Given the description of an element on the screen output the (x, y) to click on. 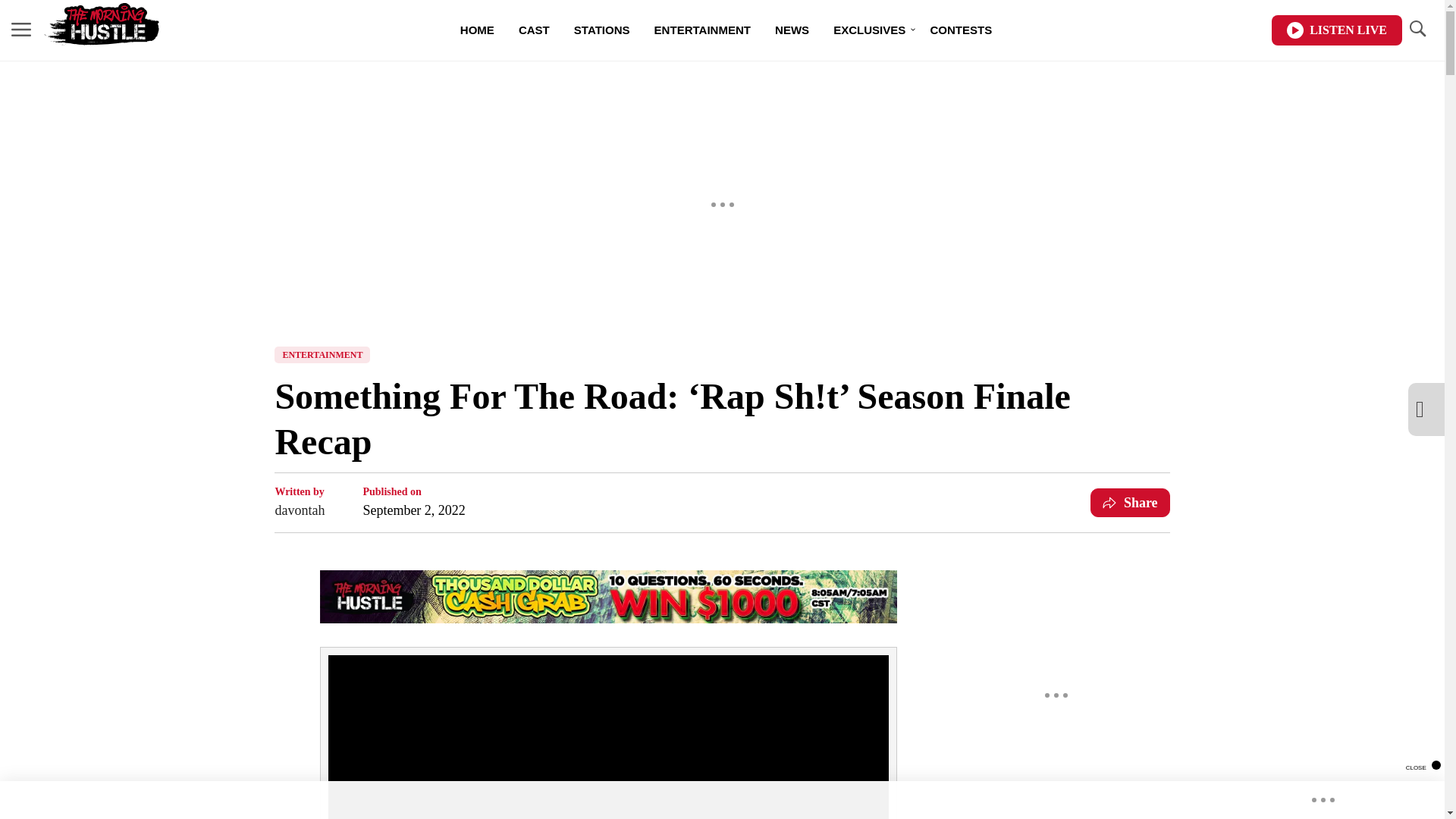
TOGGLE SEARCH (1417, 30)
CAST (534, 30)
CONTESTS (960, 30)
Share (1130, 502)
MENU (20, 30)
ENTERTAINMENT (702, 30)
ENTERTAINMENT (322, 354)
TOGGLE SEARCH (1417, 28)
STATIONS (602, 30)
EXCLUSIVES (869, 30)
